Given the description of an element on the screen output the (x, y) to click on. 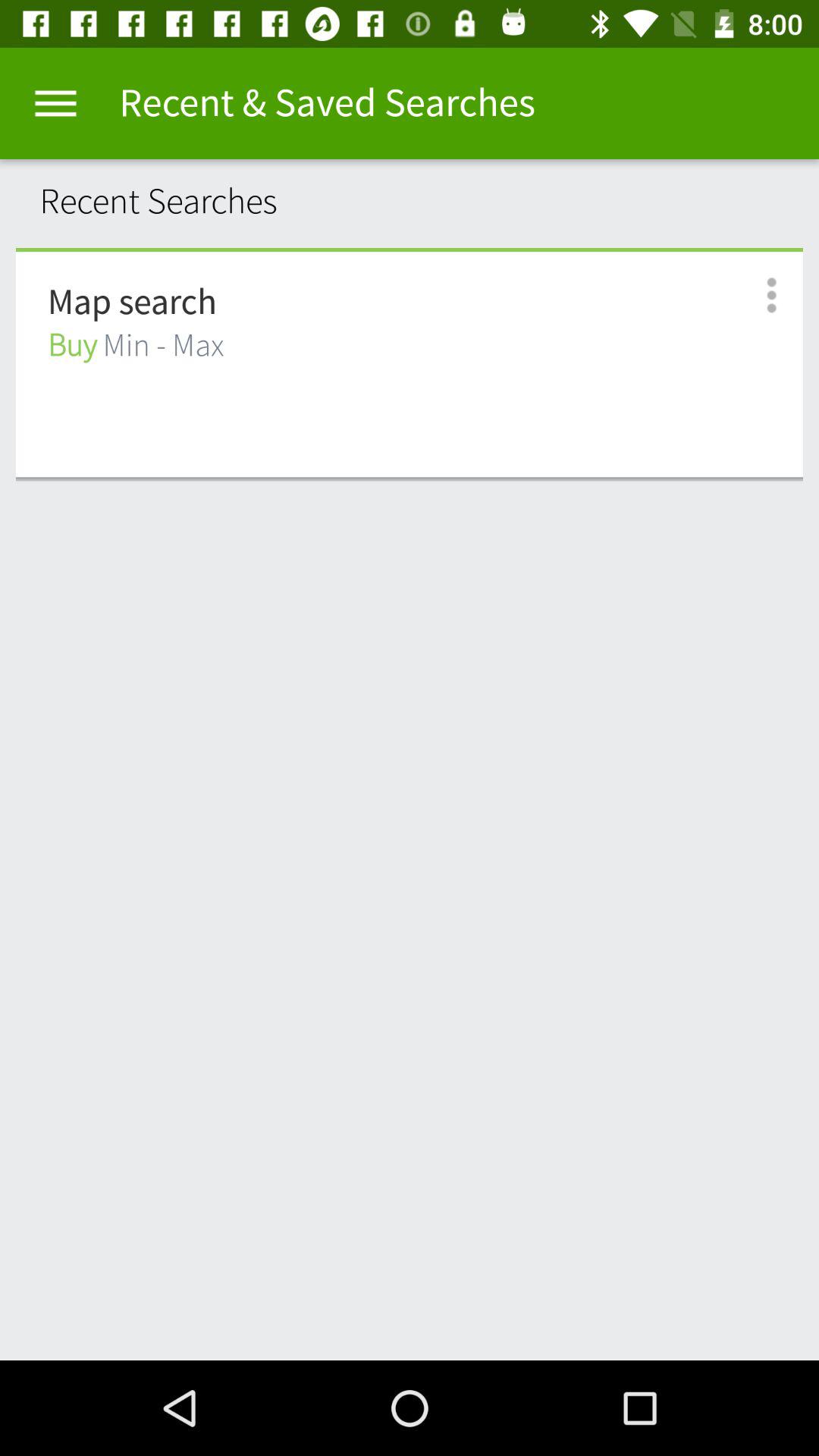
jump to map search icon (131, 302)
